Given the description of an element on the screen output the (x, y) to click on. 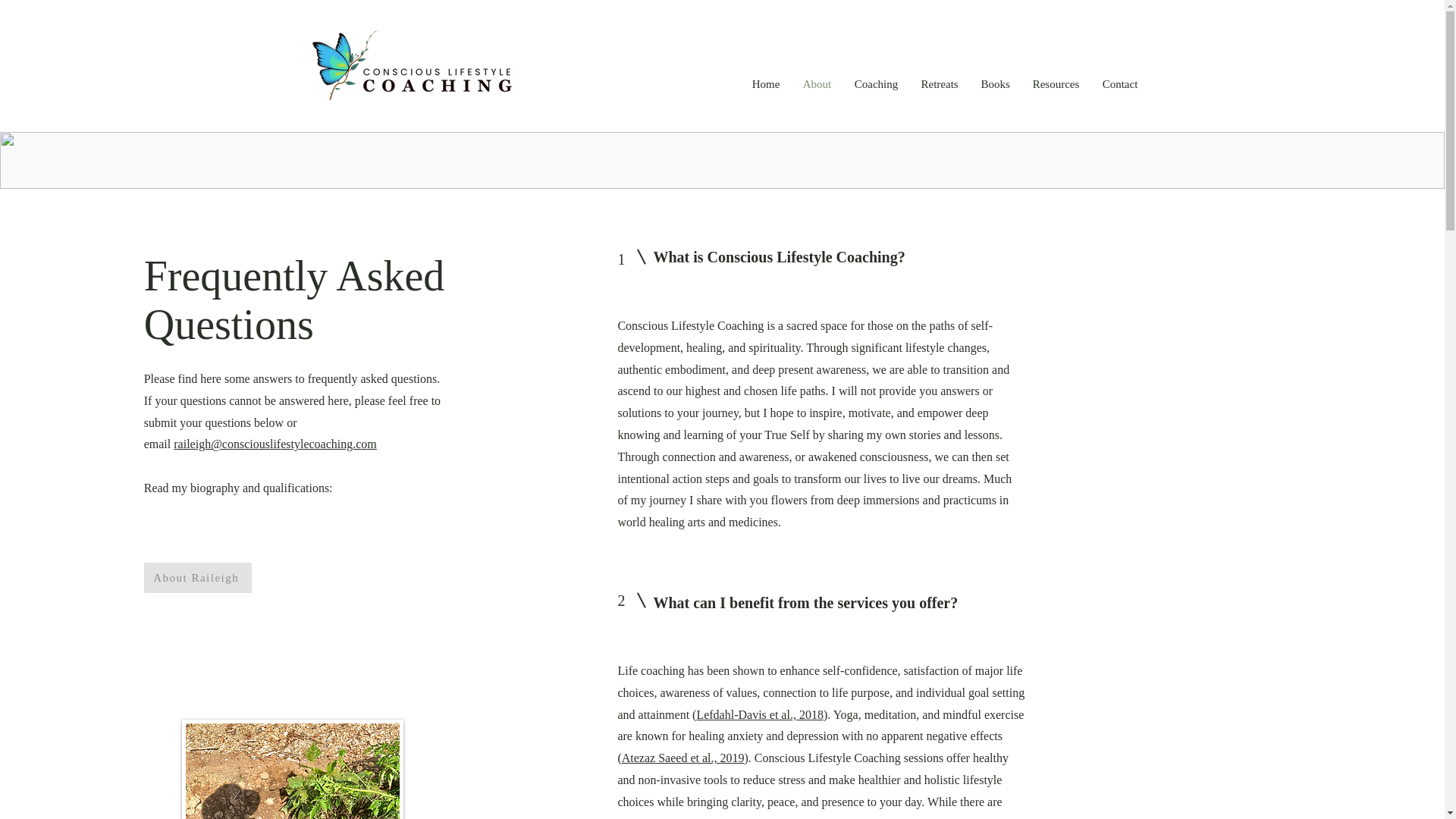
About Raileigh (197, 577)
About (817, 84)
Books (994, 84)
Resources (1055, 84)
Coaching (876, 84)
Home (764, 84)
Atezaz Saeed et al., 2019 (682, 757)
Retreats (939, 84)
Lefdahl-Davis et al., 2018 (759, 714)
Contact (1119, 84)
